Given the description of an element on the screen output the (x, y) to click on. 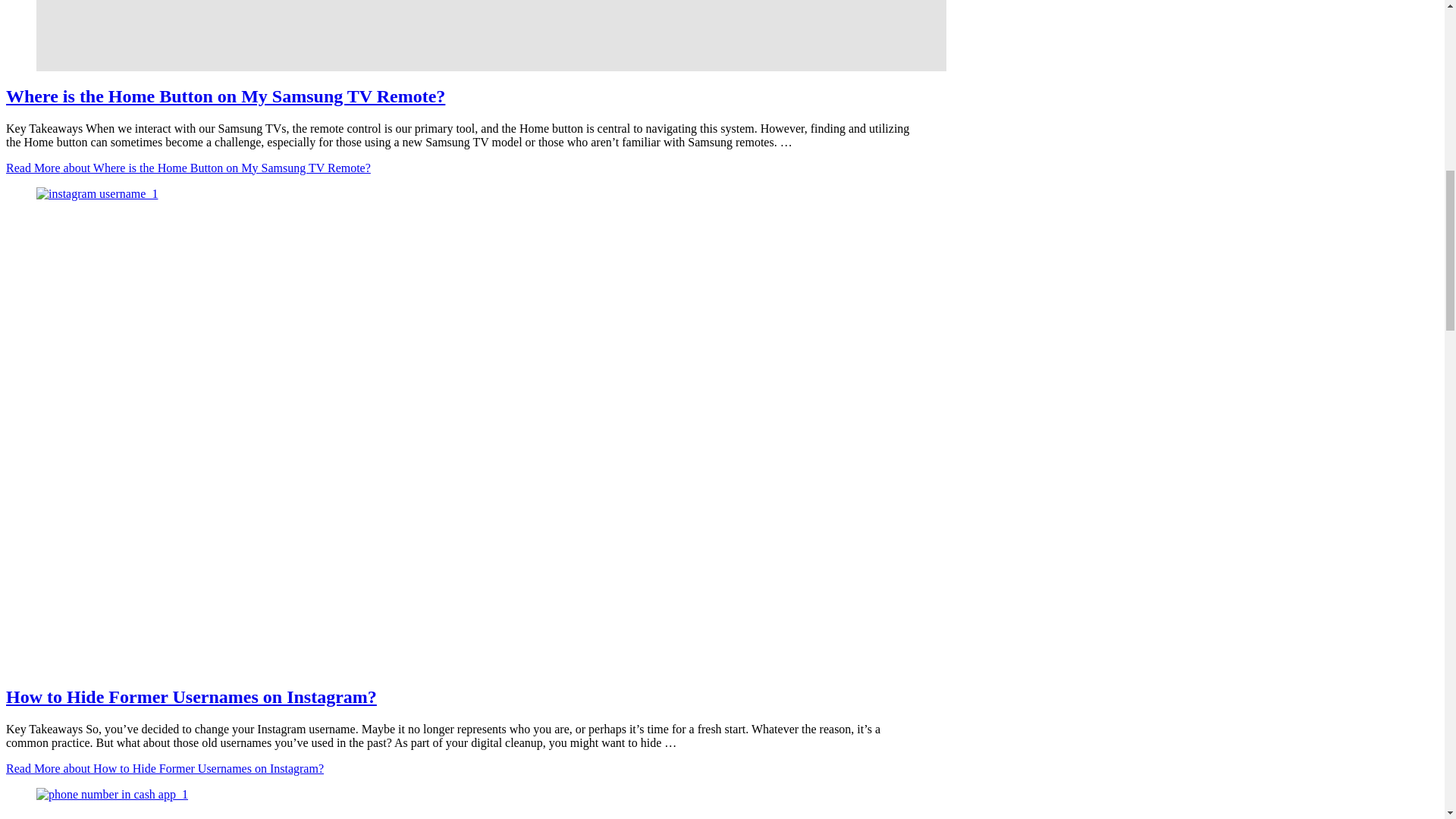
Where is the Home Button on My Samsung TV Remote? (225, 96)
Where is the Home Button on My Samsung TV Remote? (460, 35)
How to Hide Former Usernames on Instagram? (191, 696)
Read More about How to Hide Former Usernames on Instagram? (164, 768)
